Given the description of an element on the screen output the (x, y) to click on. 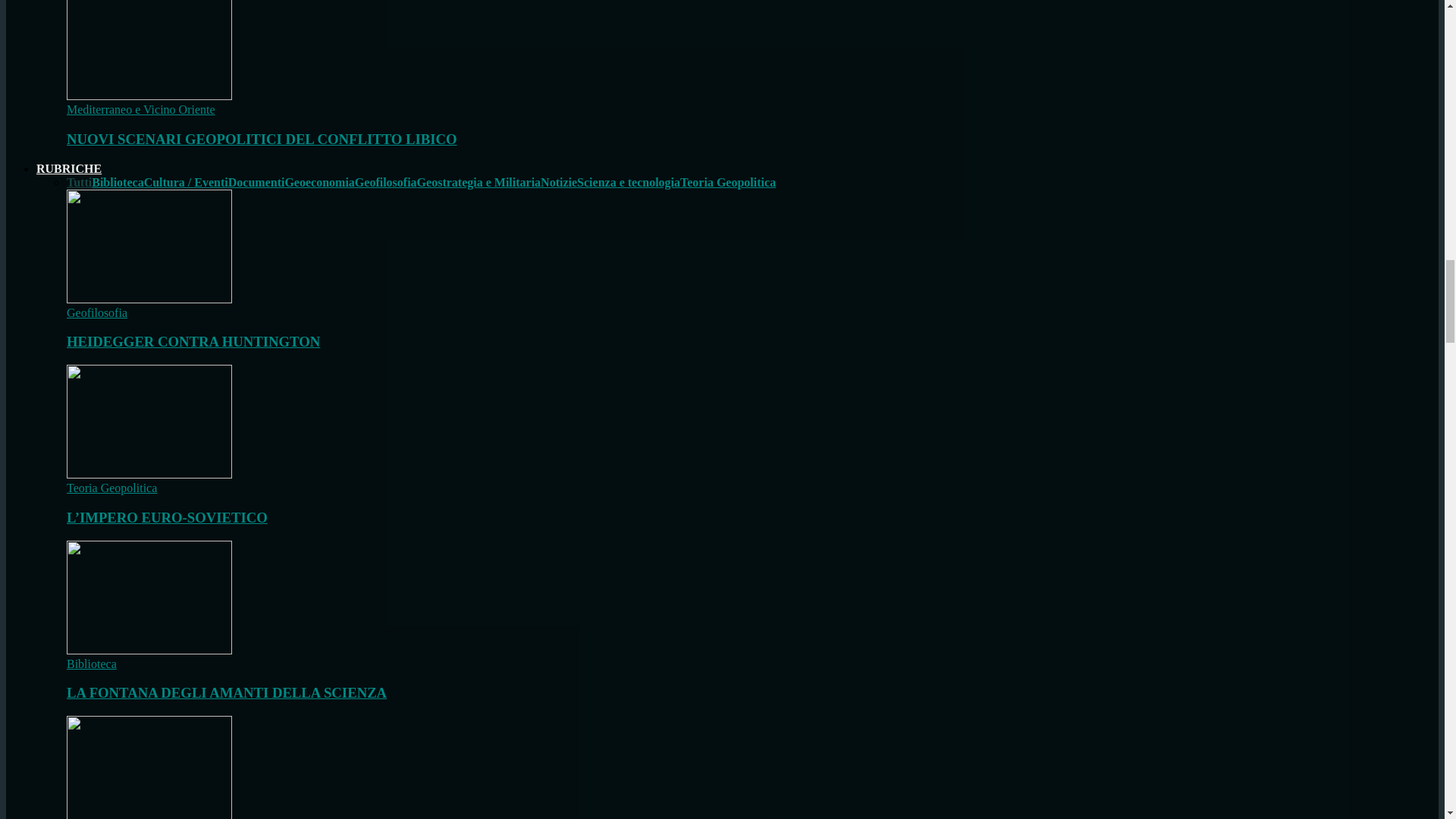
NUOVI SCENARI GEOPOLITICI DEL CONFLITTO LIBICO (148, 95)
HEIDEGGER CONTRA HUNTINGTON (193, 341)
HEIDEGGER CONTRA HUNTINGTON (148, 298)
HEIDEGGER CONTRA HUNTINGTON (148, 246)
NUOVI SCENARI GEOPOLITICI DEL CONFLITTO LIBICO (148, 49)
NUOVI SCENARI GEOPOLITICI DEL CONFLITTO LIBICO (261, 139)
